Given the description of an element on the screen output the (x, y) to click on. 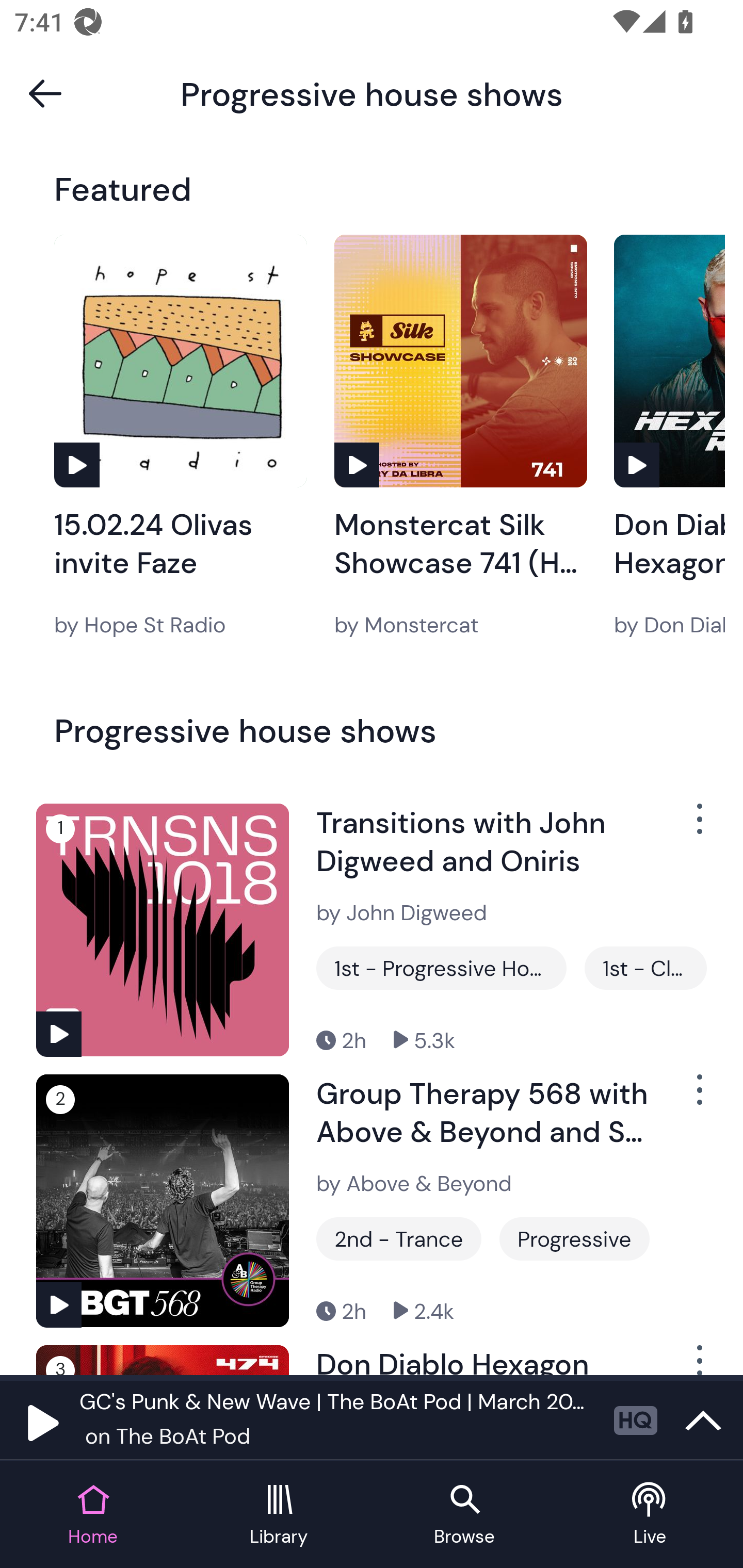
Show Options Menu Button (697, 825)
1st - Progressive House (441, 968)
1st - Club (645, 968)
Show Options Menu Button (697, 1097)
2nd - Trance (398, 1238)
Progressive (574, 1238)
Show Options Menu Button (697, 1360)
Home tab Home (92, 1515)
Library tab Library (278, 1515)
Browse tab Browse (464, 1515)
Live tab Live (650, 1515)
